Given the description of an element on the screen output the (x, y) to click on. 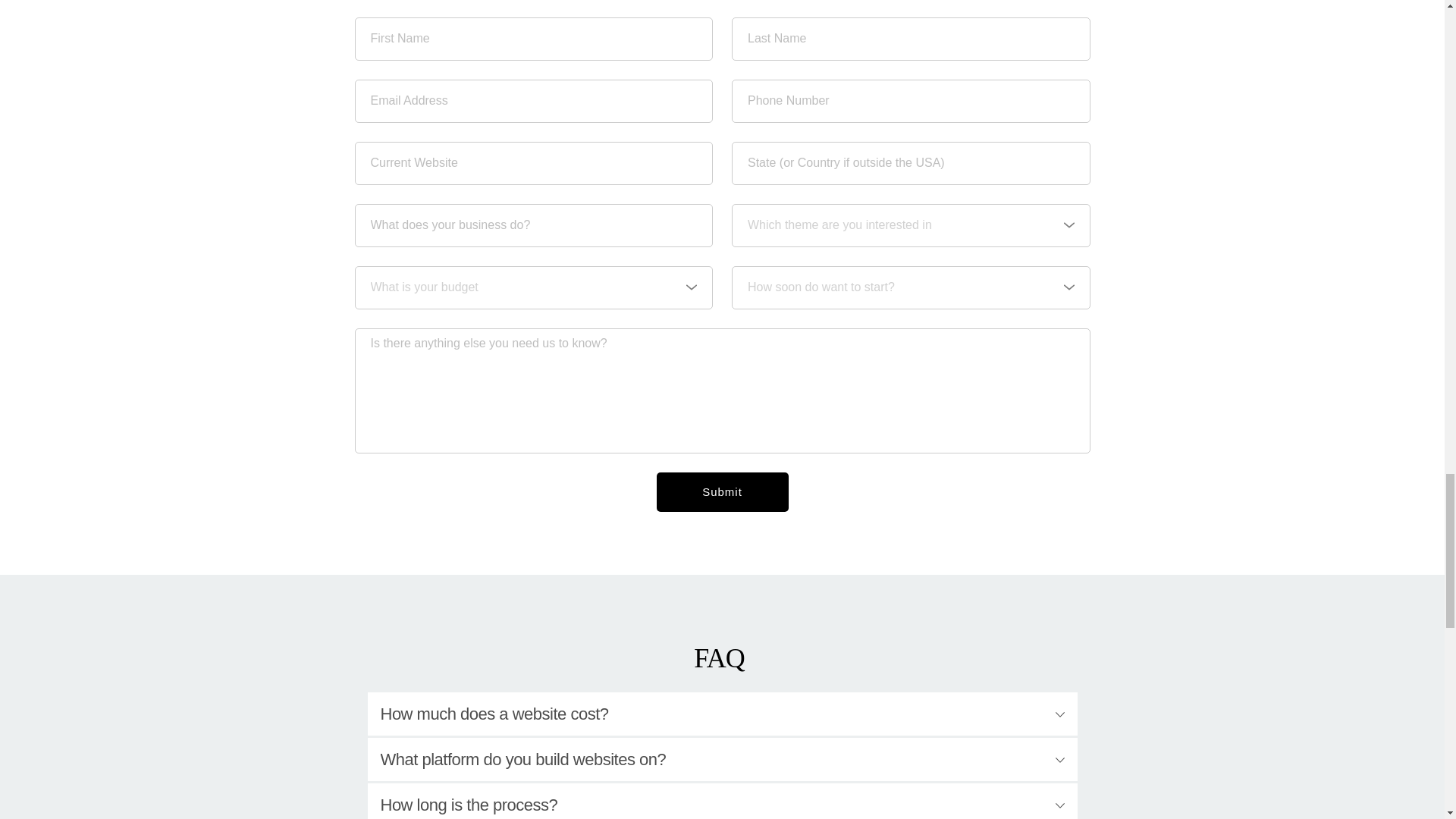
Submit (722, 491)
